Given the description of an element on the screen output the (x, y) to click on. 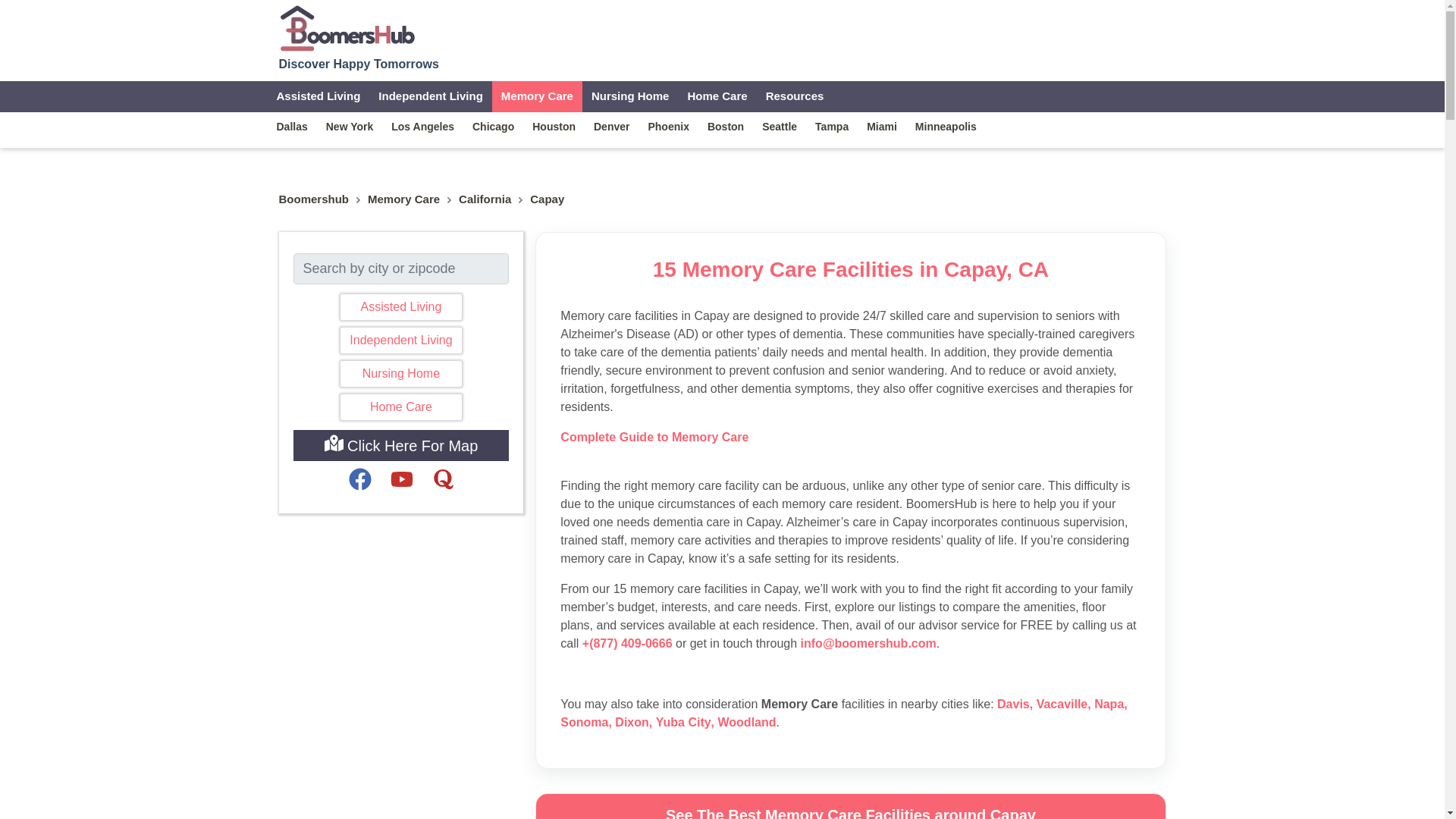
Resources (794, 96)
New York (349, 126)
Los Angeles (422, 126)
Boomershub (314, 199)
Davis (1013, 704)
Memory Care (403, 199)
Memory Care in Phoenix, Arizona (668, 126)
Denver (612, 126)
Seattle (779, 126)
Memory Care in Boston, Massachusetts (725, 126)
Discover Happy Tomorrows (359, 36)
Memory Care (403, 199)
Memory Care in Capay, California (537, 96)
Memory Care in Miami, Florida (881, 126)
Independent Living (400, 339)
